Given the description of an element on the screen output the (x, y) to click on. 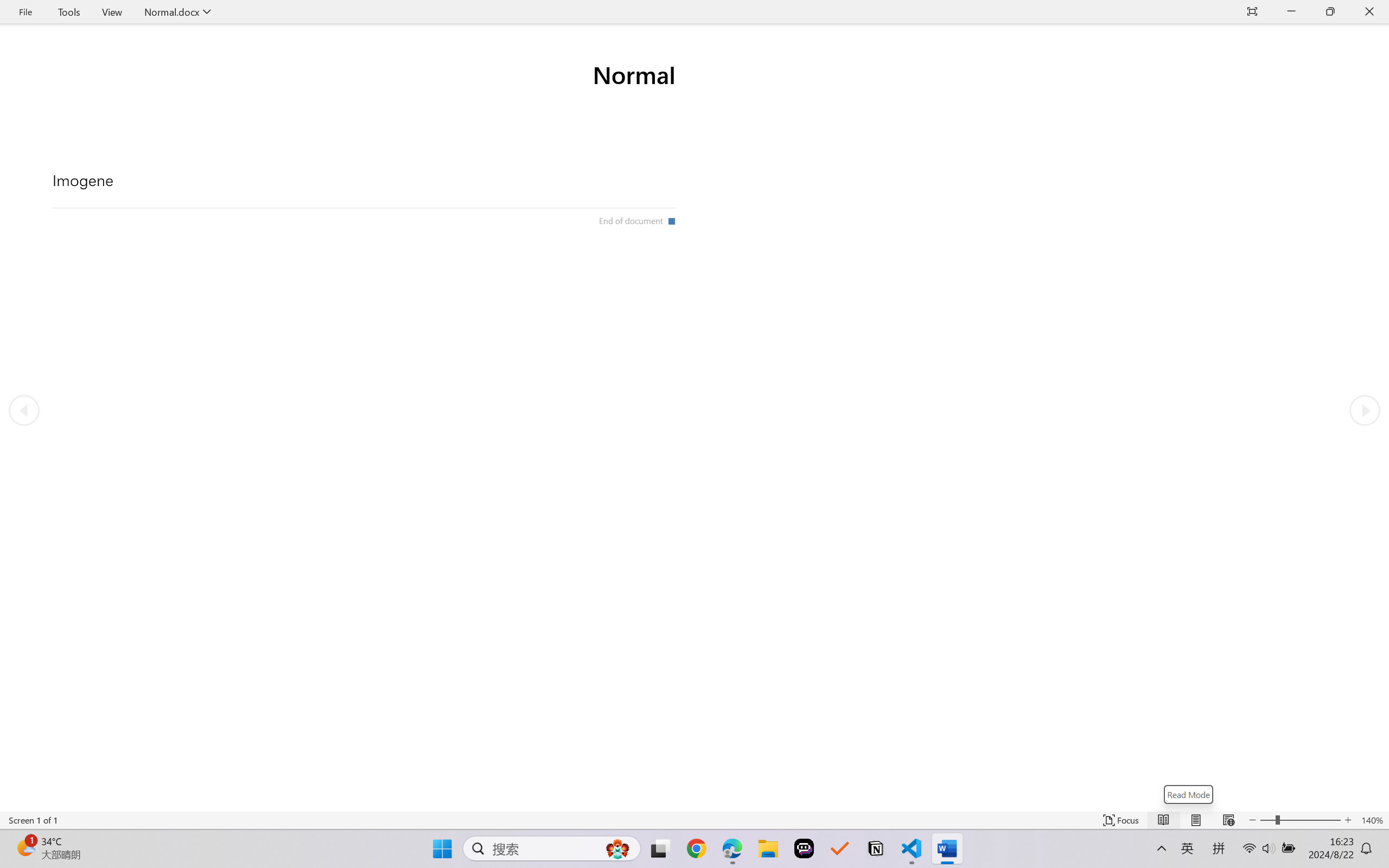
Page Number Screen 1 of 1  (32, 819)
Text Size (1300, 819)
Class: NetUIScrollBar (694, 803)
Decrease Text Size (1252, 819)
Tools (69, 11)
